Given the description of an element on the screen output the (x, y) to click on. 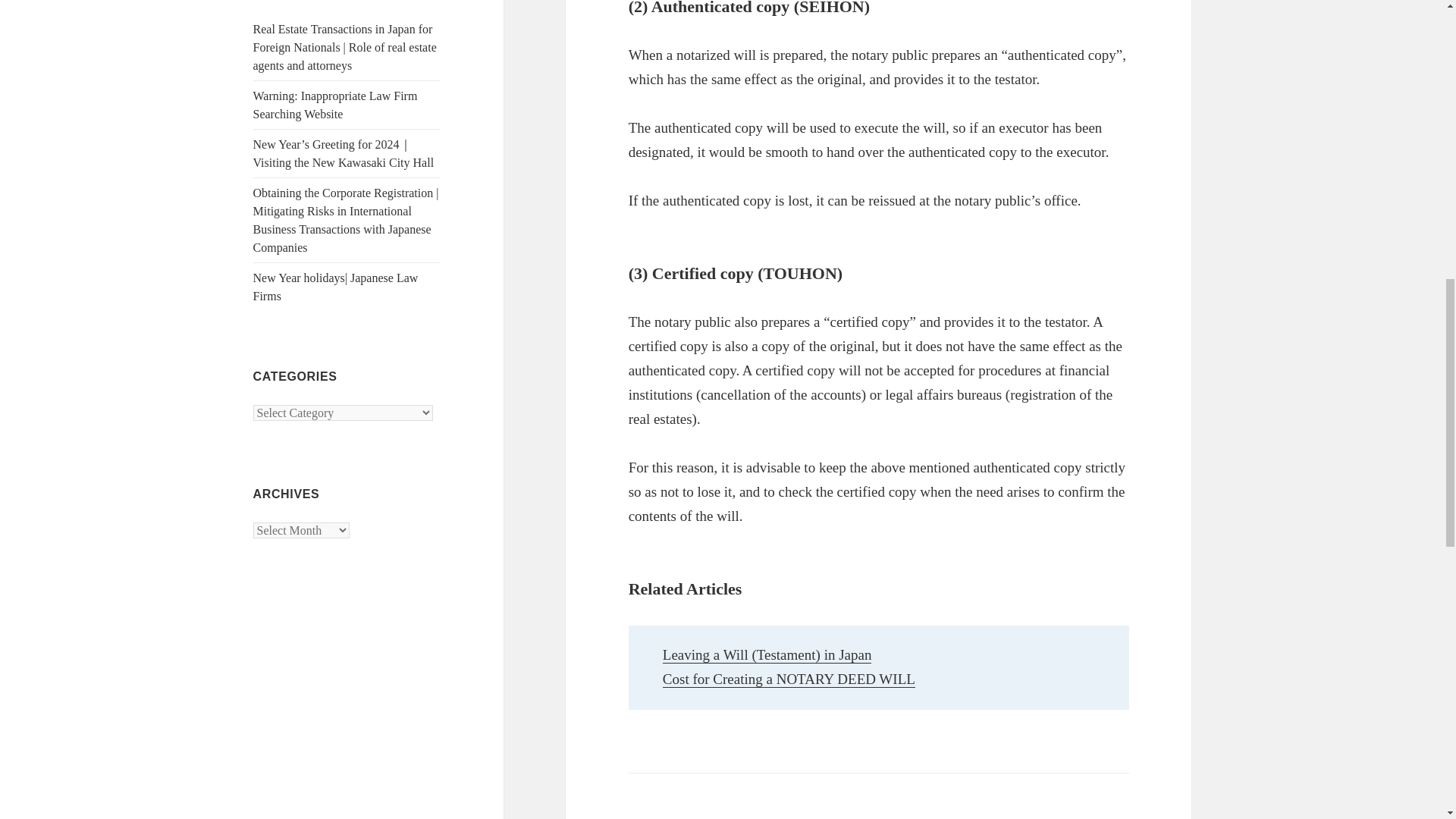
Cost for Creating a NOTARY DEED WILL (788, 678)
Warning: Inappropriate Law Firm Searching Website (335, 104)
